Given the description of an element on the screen output the (x, y) to click on. 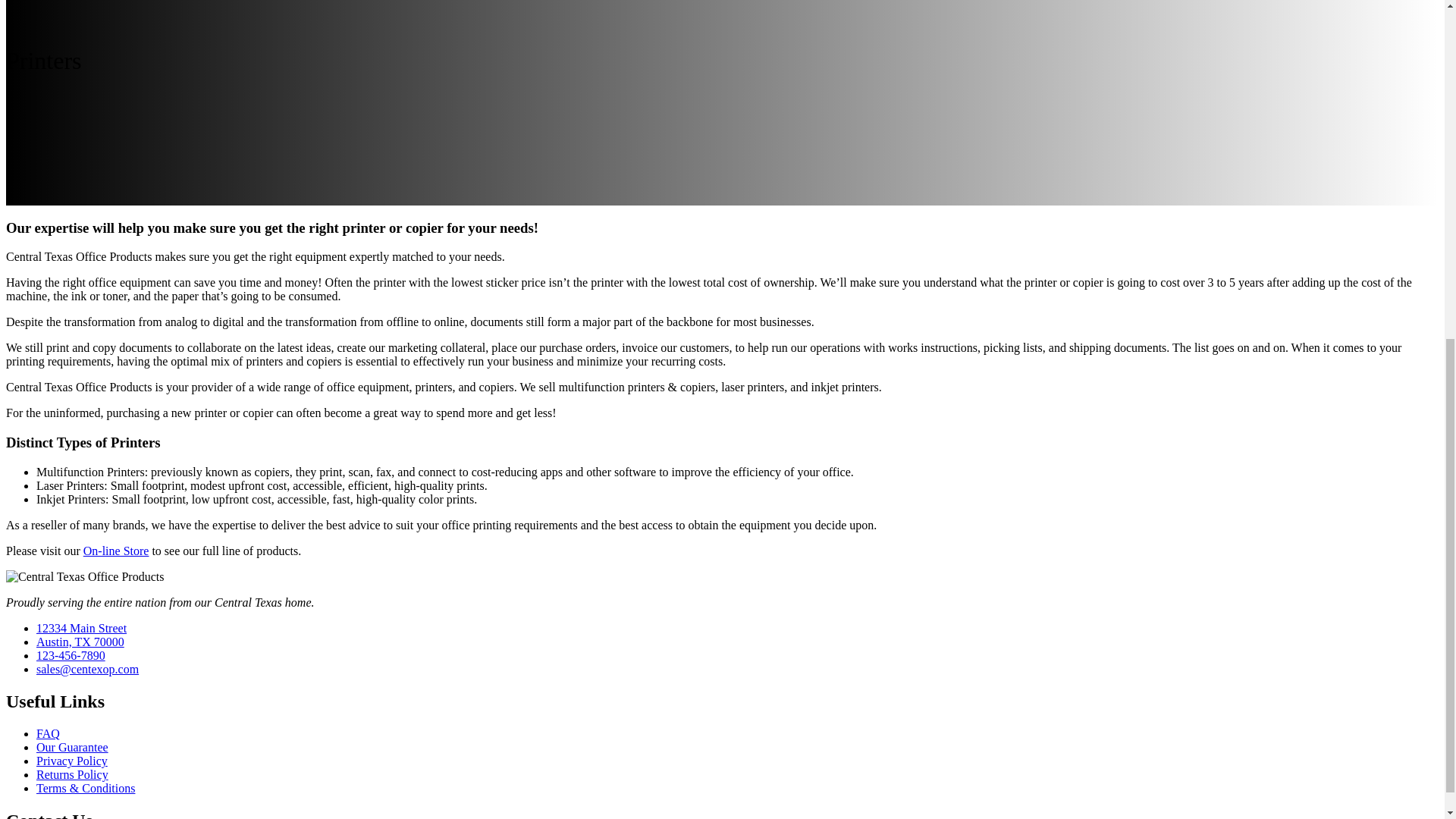
On-line Store (115, 550)
123-456-7890 (70, 655)
Austin, TX 70000 (79, 641)
Central Texas Office Products (84, 576)
12334 Main Street (81, 627)
